Given the description of an element on the screen output the (x, y) to click on. 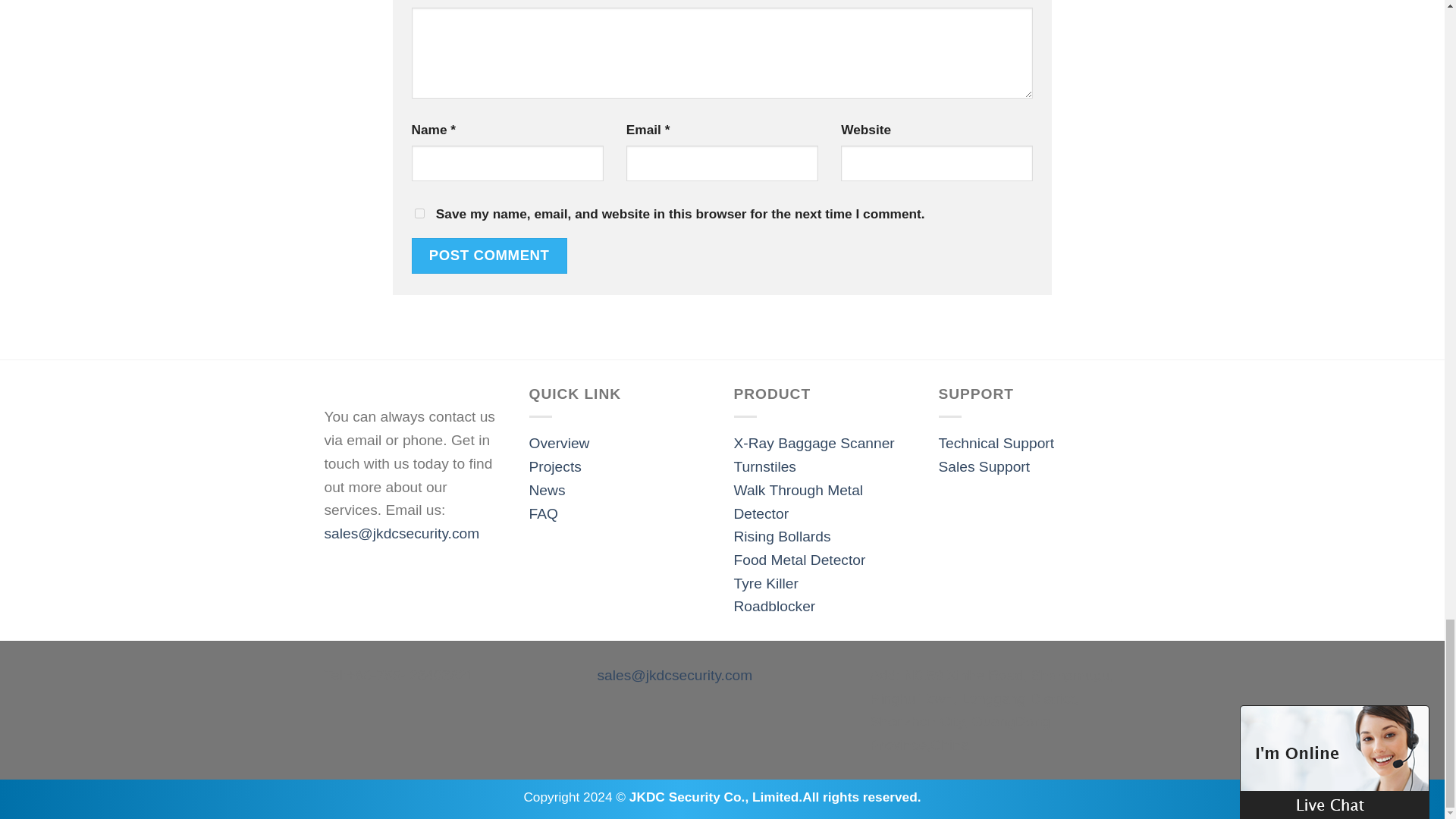
Post Comment (488, 255)
yes (418, 213)
